Given the description of an element on the screen output the (x, y) to click on. 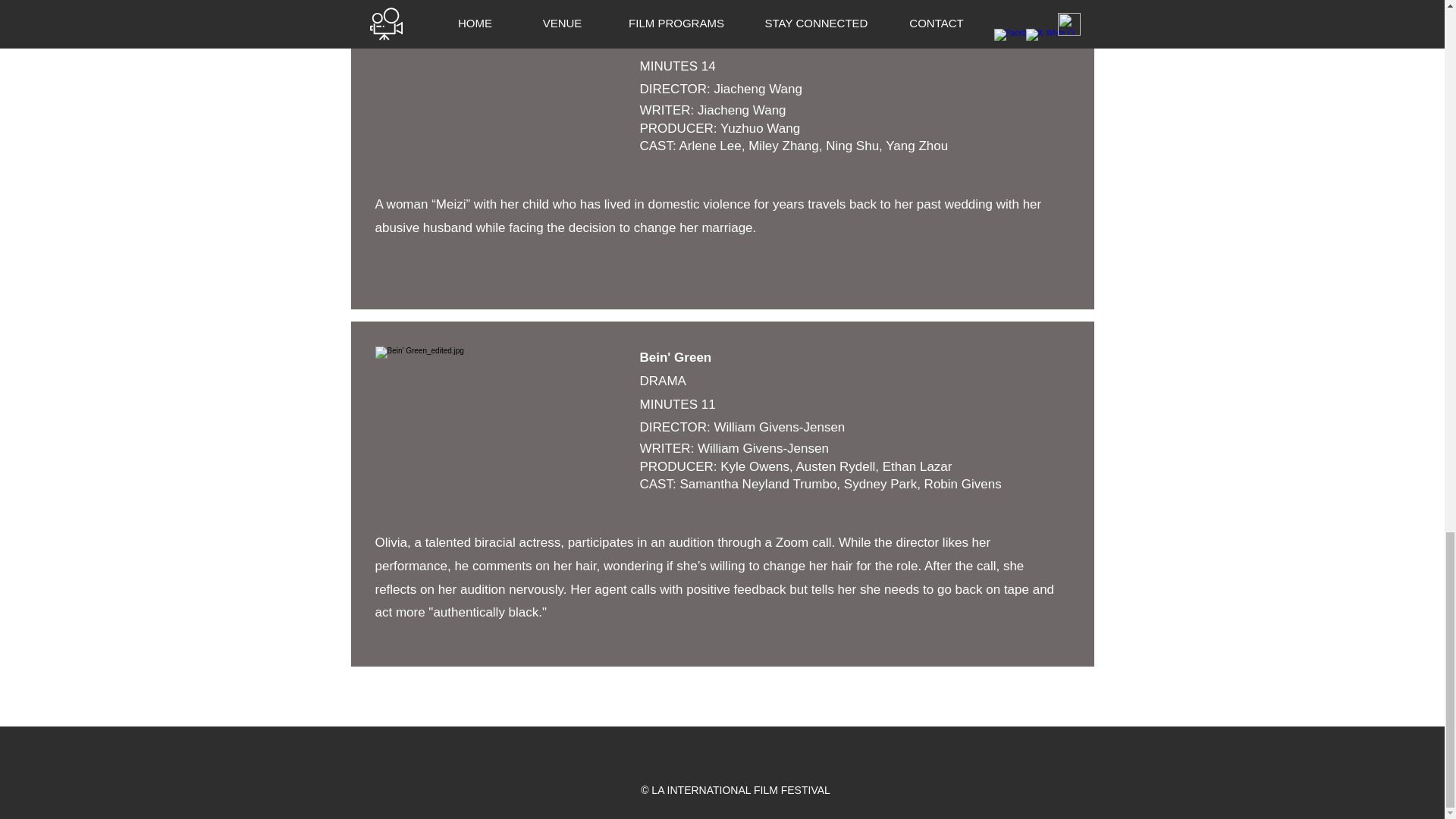
We Have Notes.jpg (498, 85)
We Have Notes.jpg (498, 424)
